Given the description of an element on the screen output the (x, y) to click on. 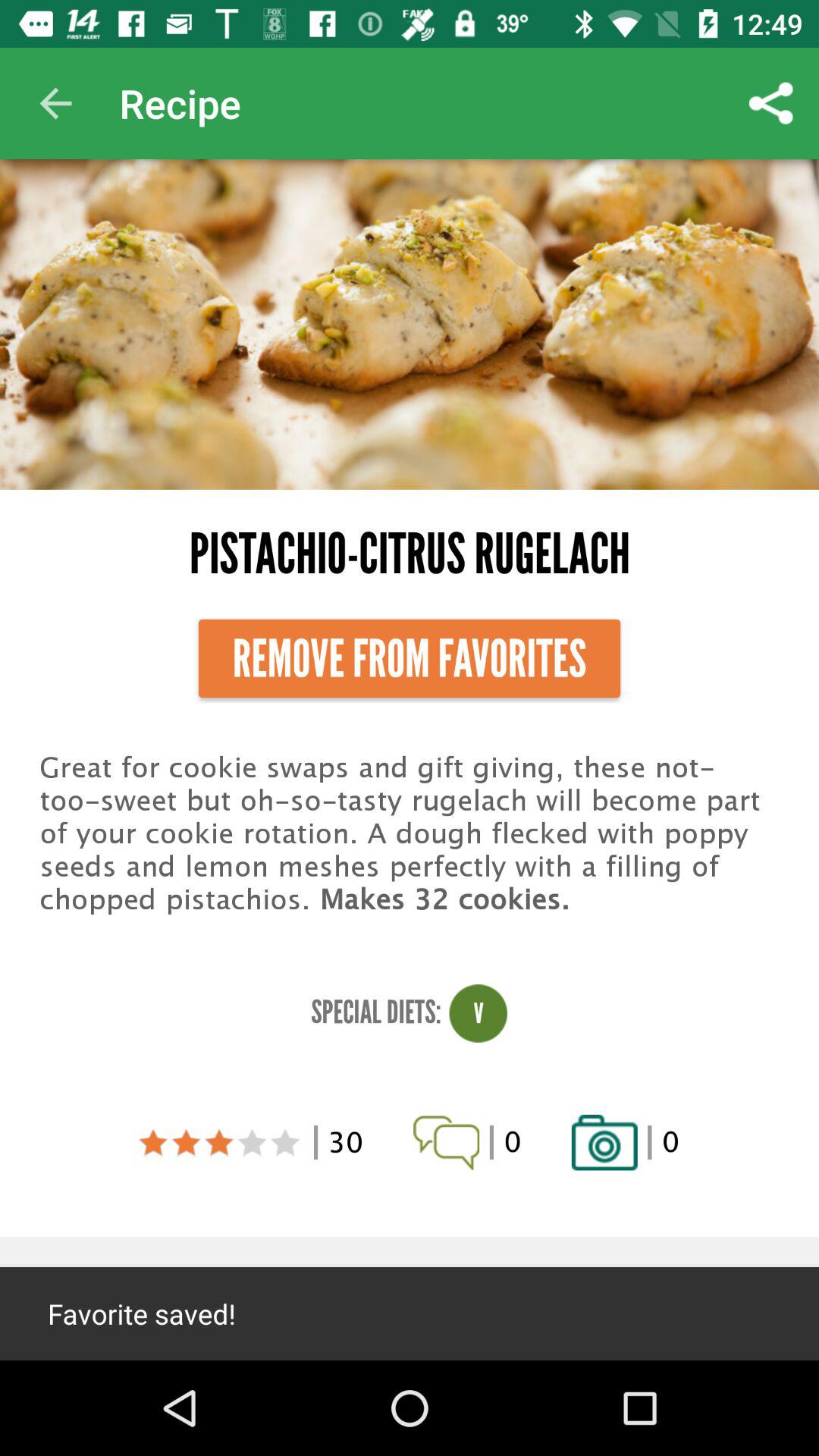
tap the item above the pistachio-citrus rugelach (55, 103)
